Given the description of an element on the screen output the (x, y) to click on. 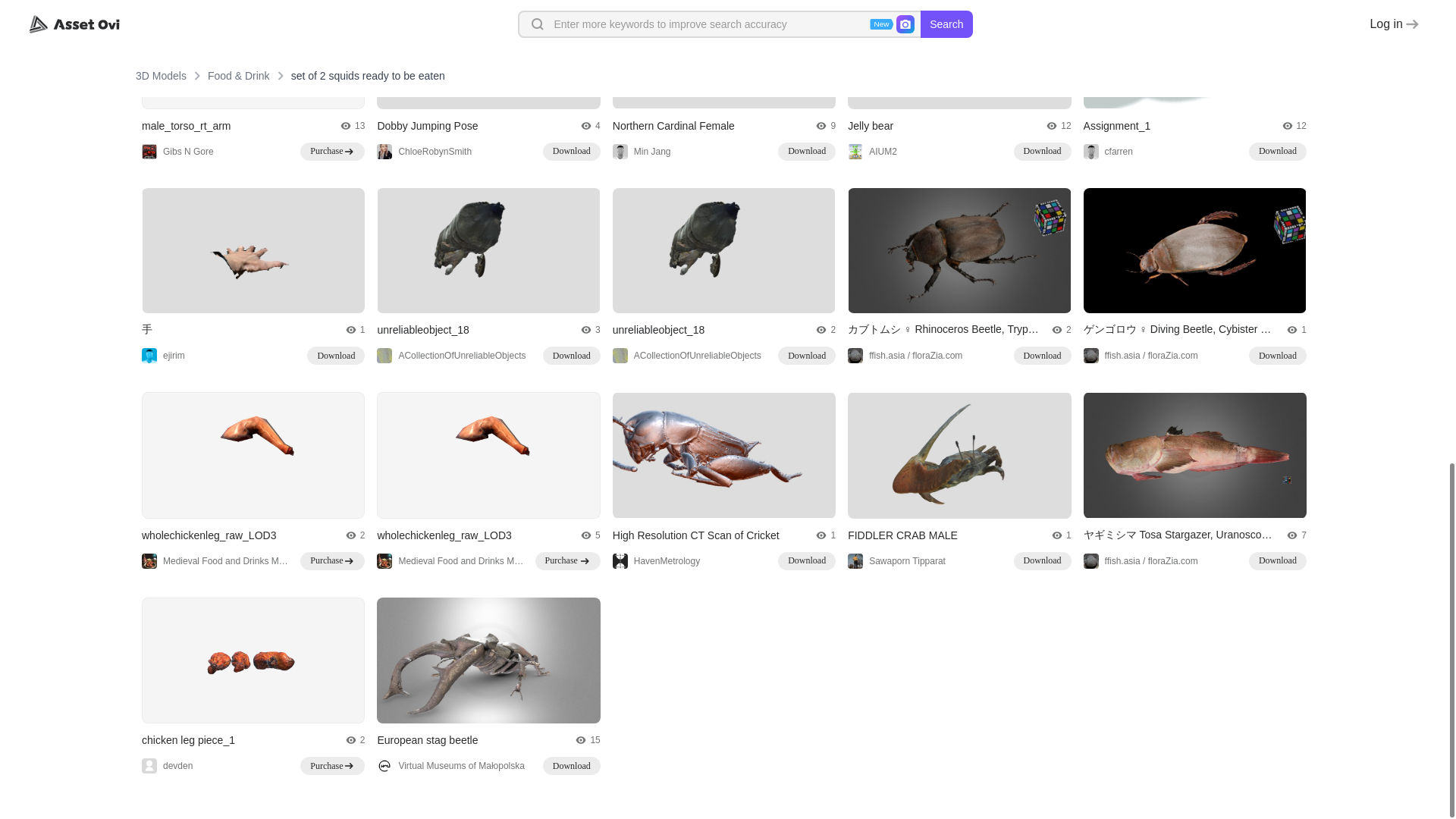
Purchase (332, 151)
Gibs N Gore (177, 151)
ChloeRobynSmith (424, 151)
Dobby Jumping Pose (427, 125)
Download (571, 151)
Northern Cardinal Female (673, 125)
Min Jang (641, 151)
